Given the description of an element on the screen output the (x, y) to click on. 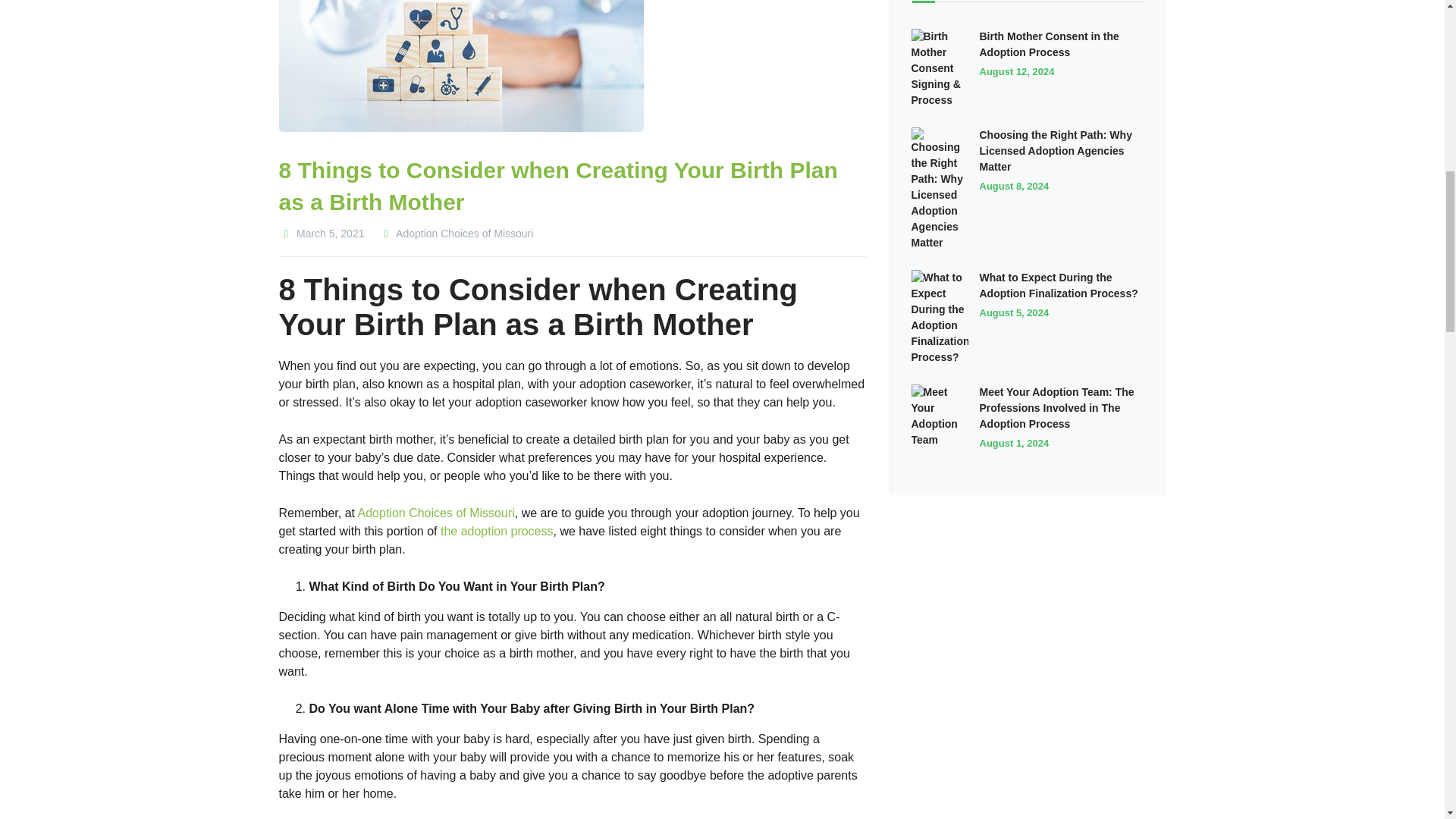
Posted by Adoption Choices of Missouri (455, 233)
March 5, 2021 (322, 233)
the adoption process (497, 530)
Adoption Choices of Missouri (436, 512)
Adoption Choices of Missouri (455, 233)
